Given the description of an element on the screen output the (x, y) to click on. 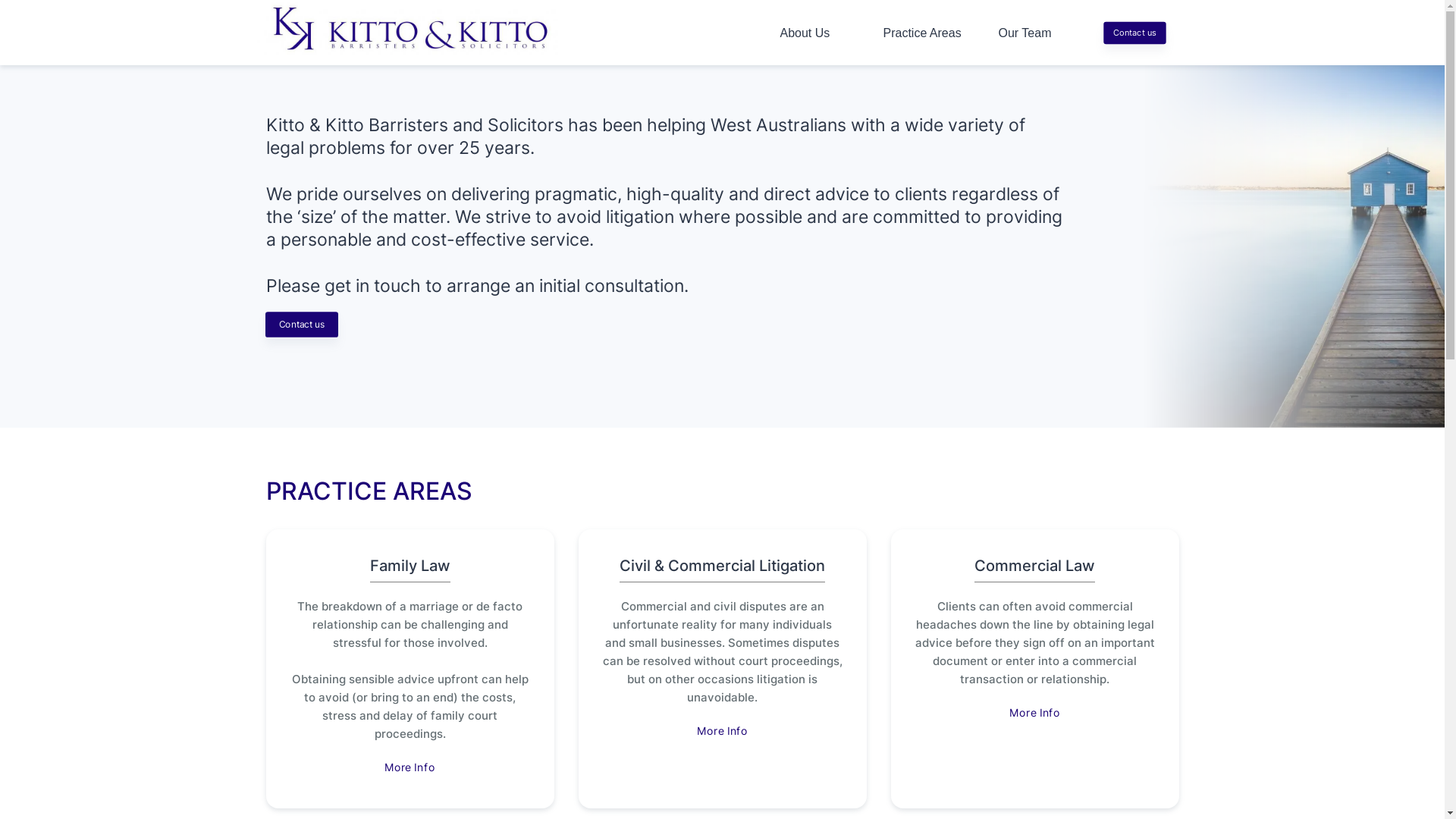
logo Element type: hover (415, 49)
Contact us Element type: text (310, 327)
Practice Areas Element type: text (921, 32)
More Info Element type: text (1041, 715)
Contact us Element type: text (1142, 35)
About Us Element type: text (804, 32)
More Info Element type: text (729, 733)
Our Team Element type: text (1024, 32)
More Info Element type: text (417, 770)
